Given the description of an element on the screen output the (x, y) to click on. 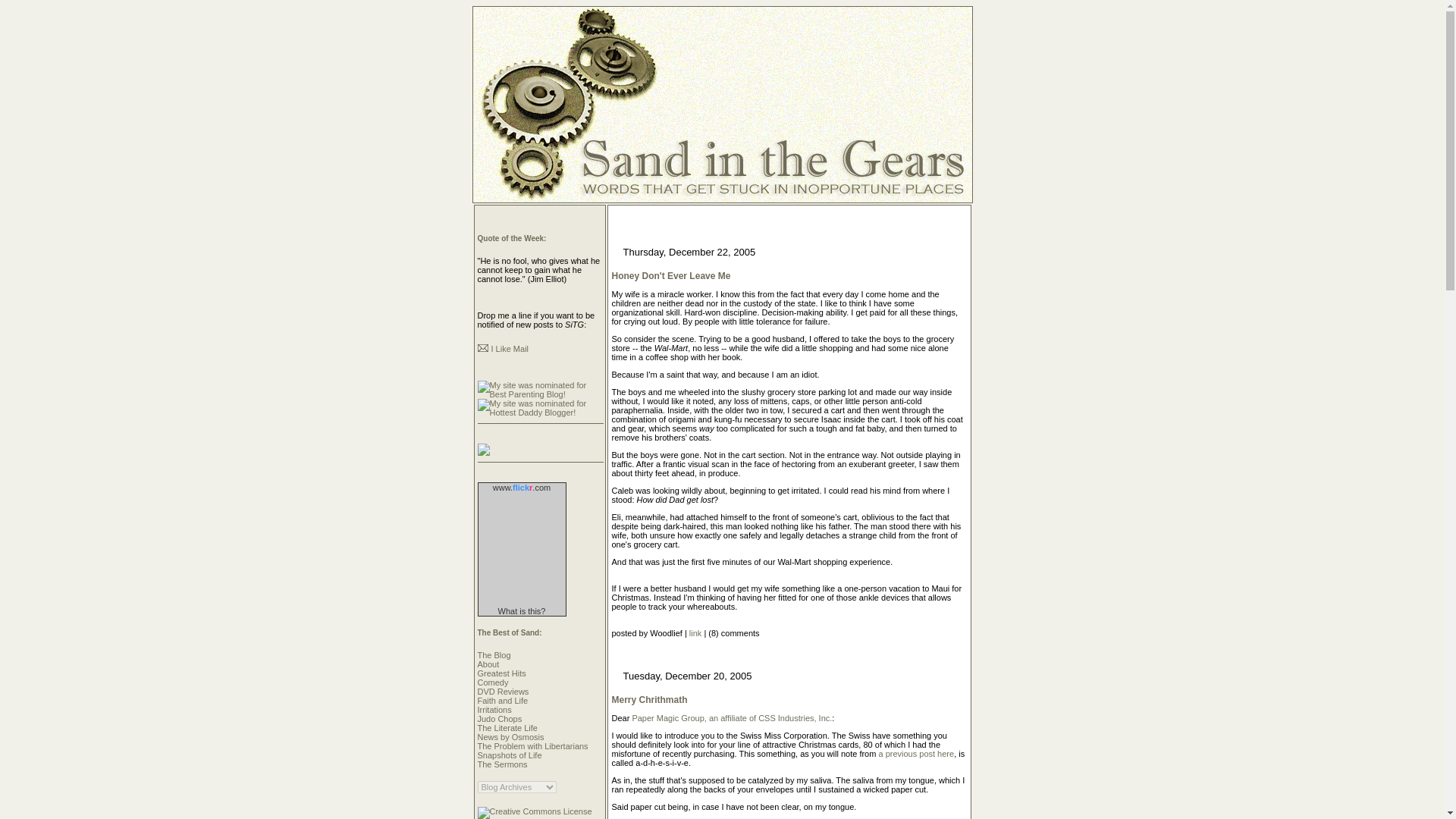
The Literate Life (507, 727)
Irritations (494, 709)
Judo Chops (499, 718)
The Blog (494, 655)
News by Osmosis (510, 737)
About (488, 664)
contact me (510, 347)
www.flickr.com (521, 487)
The Problem with Libertarians (532, 746)
Greatest Hits (501, 673)
